Given the description of an element on the screen output the (x, y) to click on. 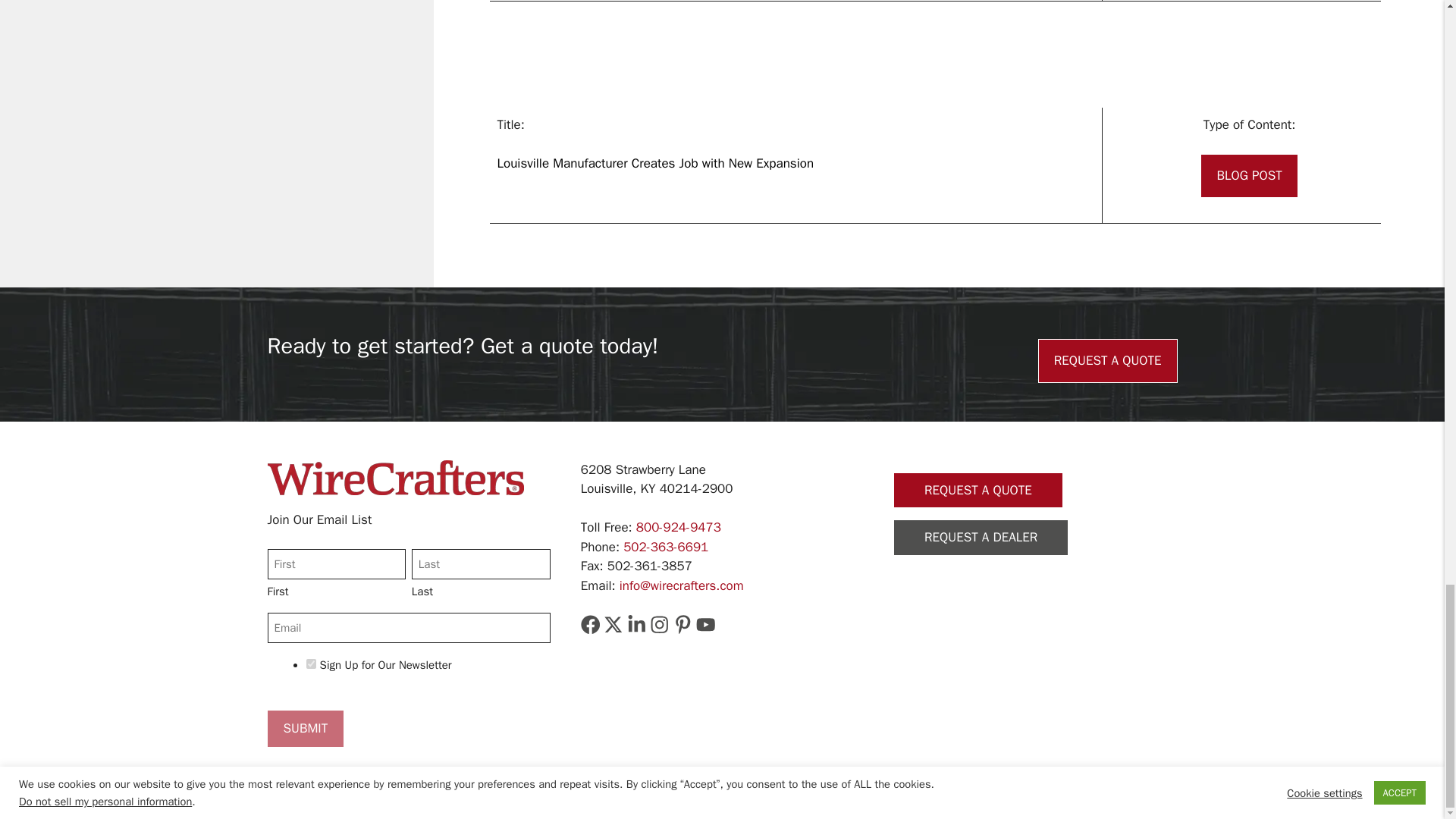
Submit (304, 728)
wirecrafters-logo (394, 477)
1 (310, 664)
